Given the description of an element on the screen output the (x, y) to click on. 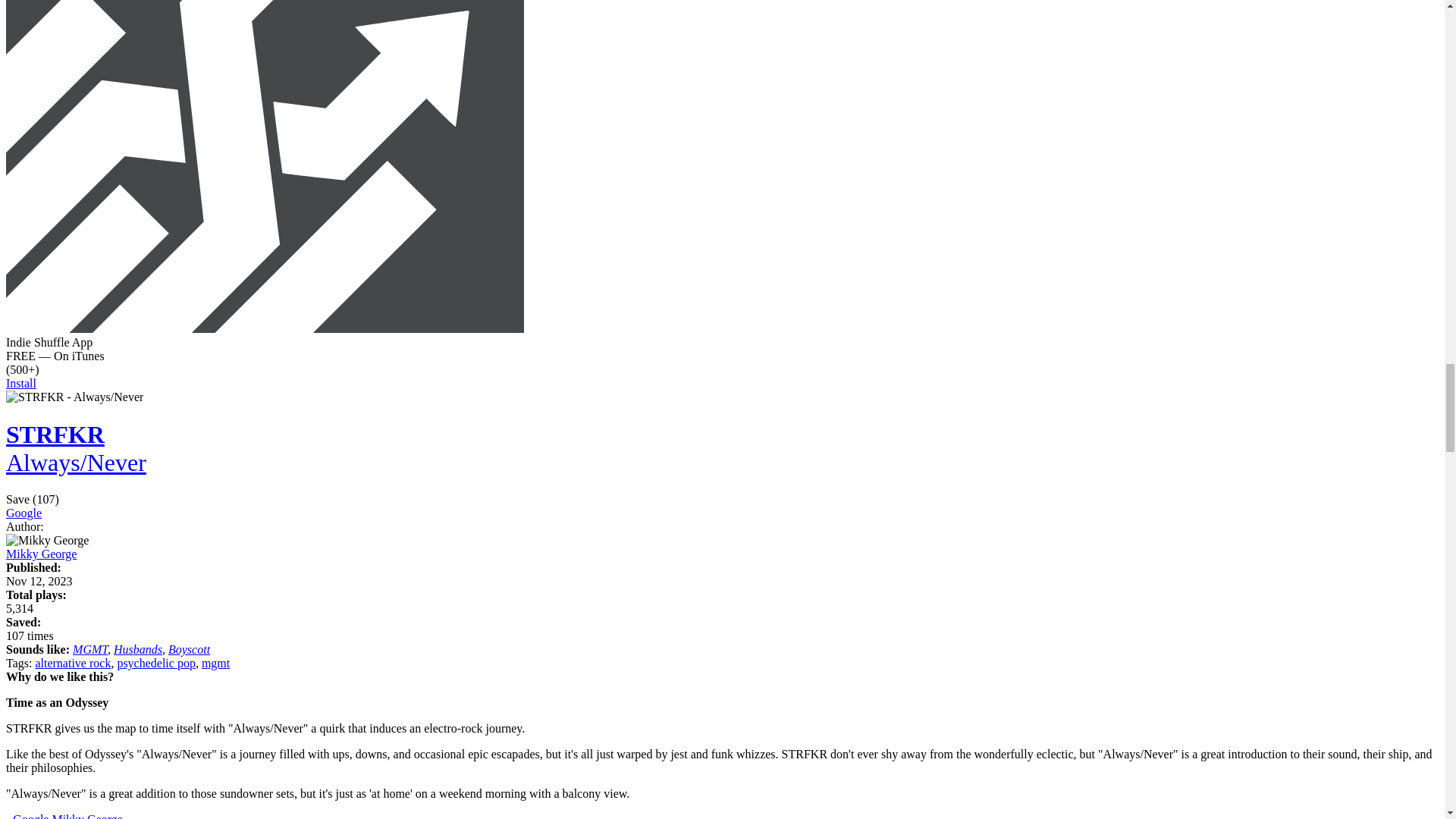
Boyscott (188, 649)
MGMT (89, 649)
Google (23, 512)
mgmt (216, 662)
Google (30, 816)
Mikky George (86, 816)
Alternative rock Songs (72, 662)
alternative rock (72, 662)
psychedelic pop (155, 662)
View chart (19, 608)
Psychedelic pop Songs (155, 662)
Install iPhone App (264, 328)
Husbands (137, 649)
